Given the description of an element on the screen output the (x, y) to click on. 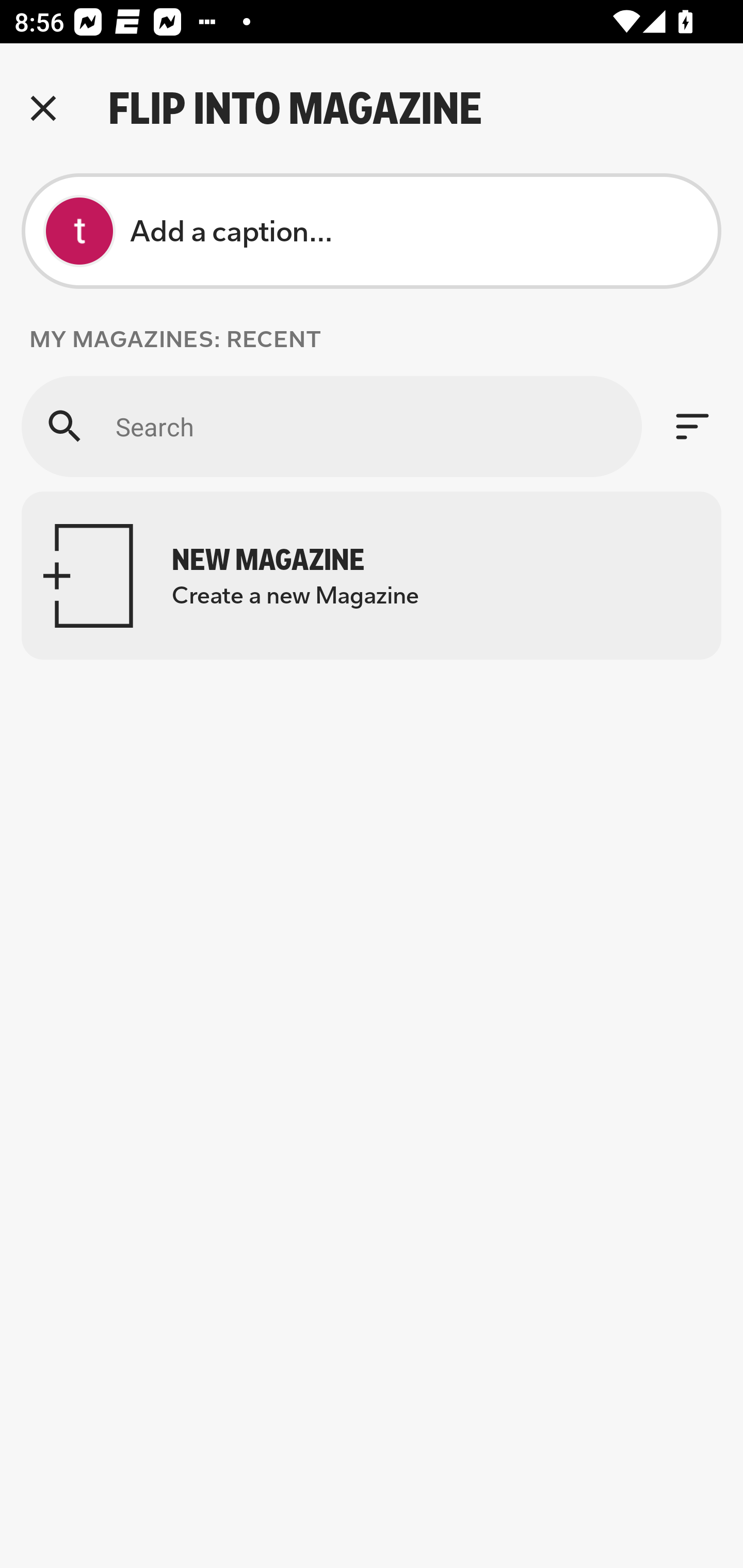
test appium Add a caption… (371, 231)
Search (331, 426)
NEW MAGAZINE Create a new Magazine (371, 575)
